Given the description of an element on the screen output the (x, y) to click on. 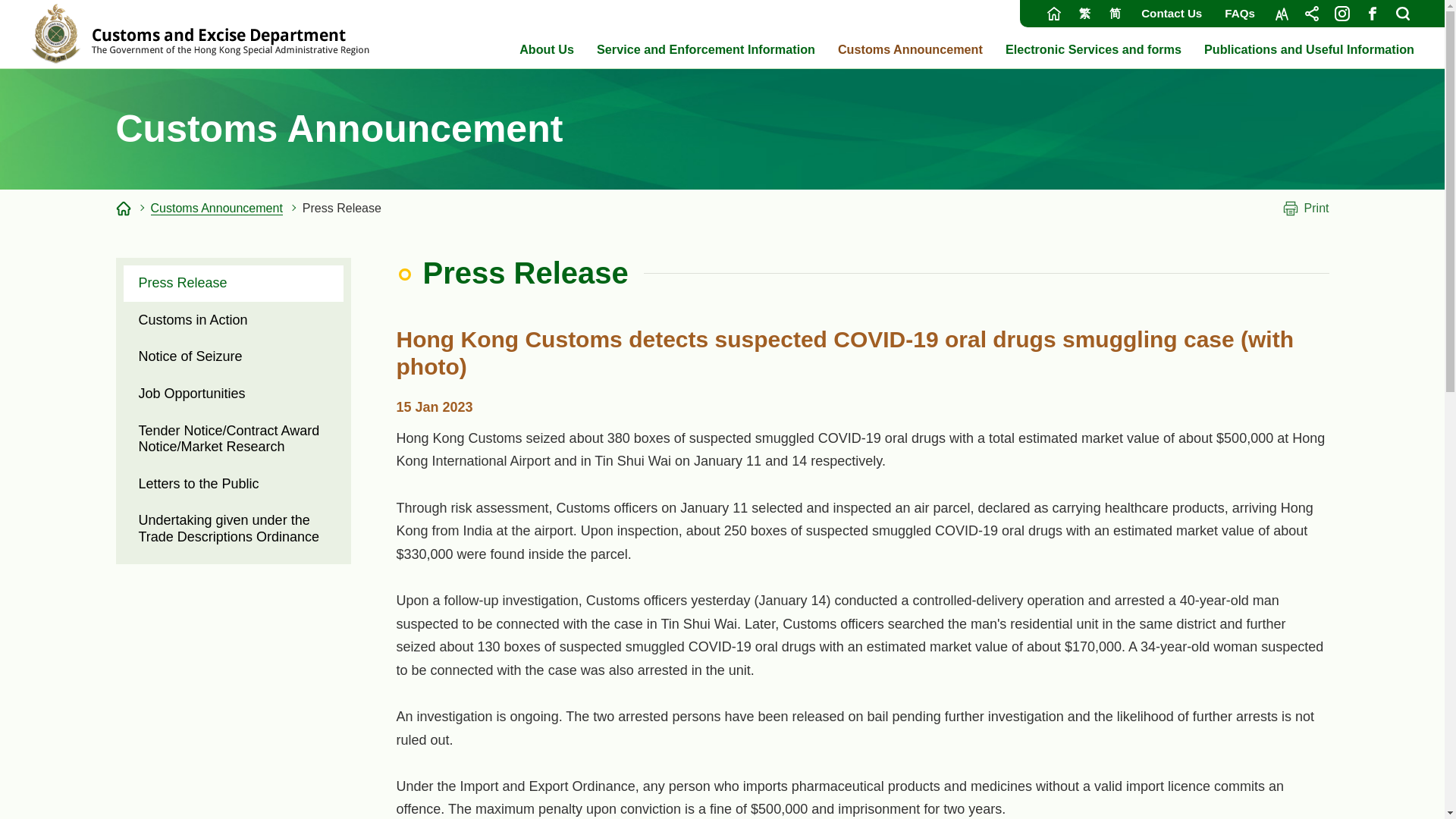
Font Size, This link will open in new window (1280, 13)
